Given the description of an element on the screen output the (x, y) to click on. 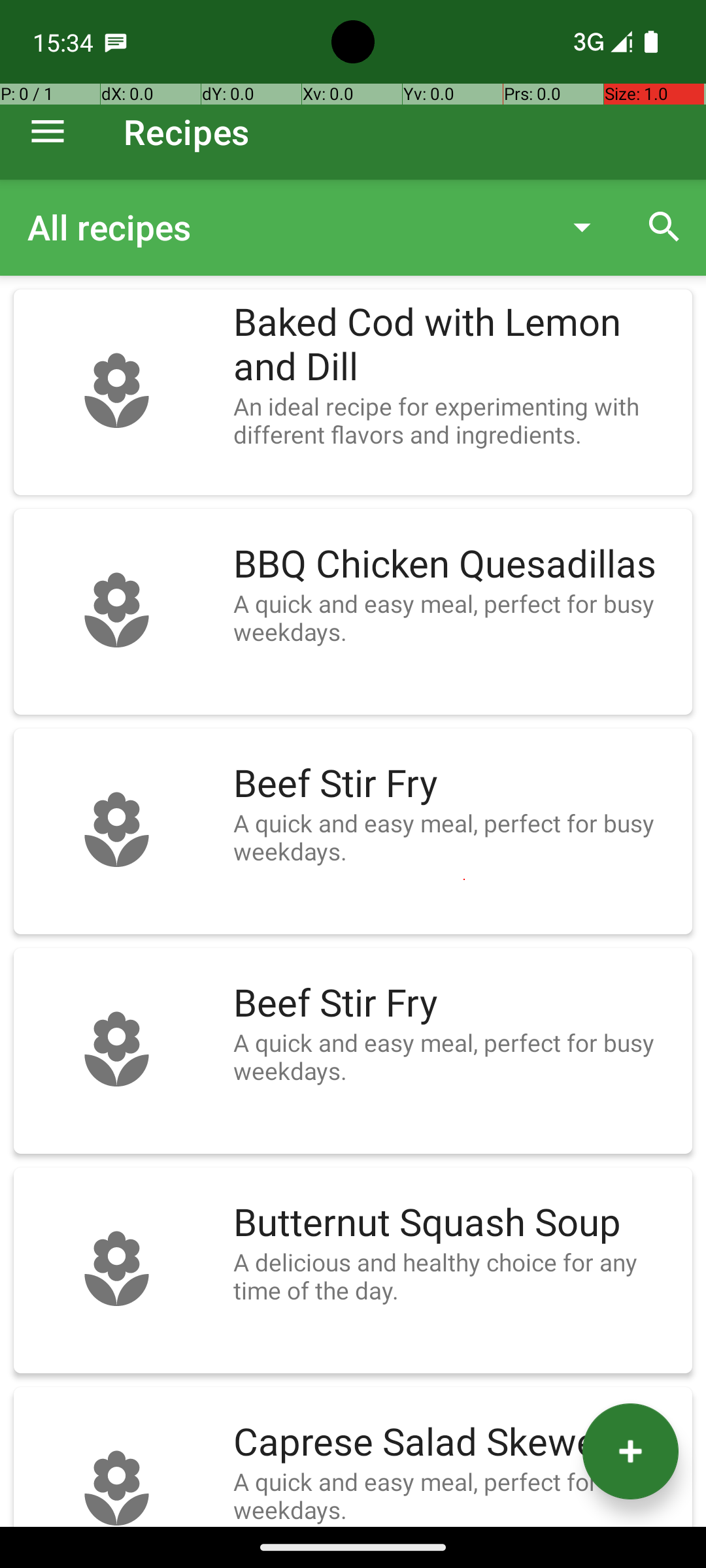
Baked Cod with Lemon and Dill Element type: android.widget.TextView (455, 344)
BBQ Chicken Quesadillas Element type: android.widget.TextView (455, 564)
Beef Stir Fry Element type: android.widget.TextView (455, 783)
Butternut Squash Soup Element type: android.widget.TextView (455, 1222)
